Given the description of an element on the screen output the (x, y) to click on. 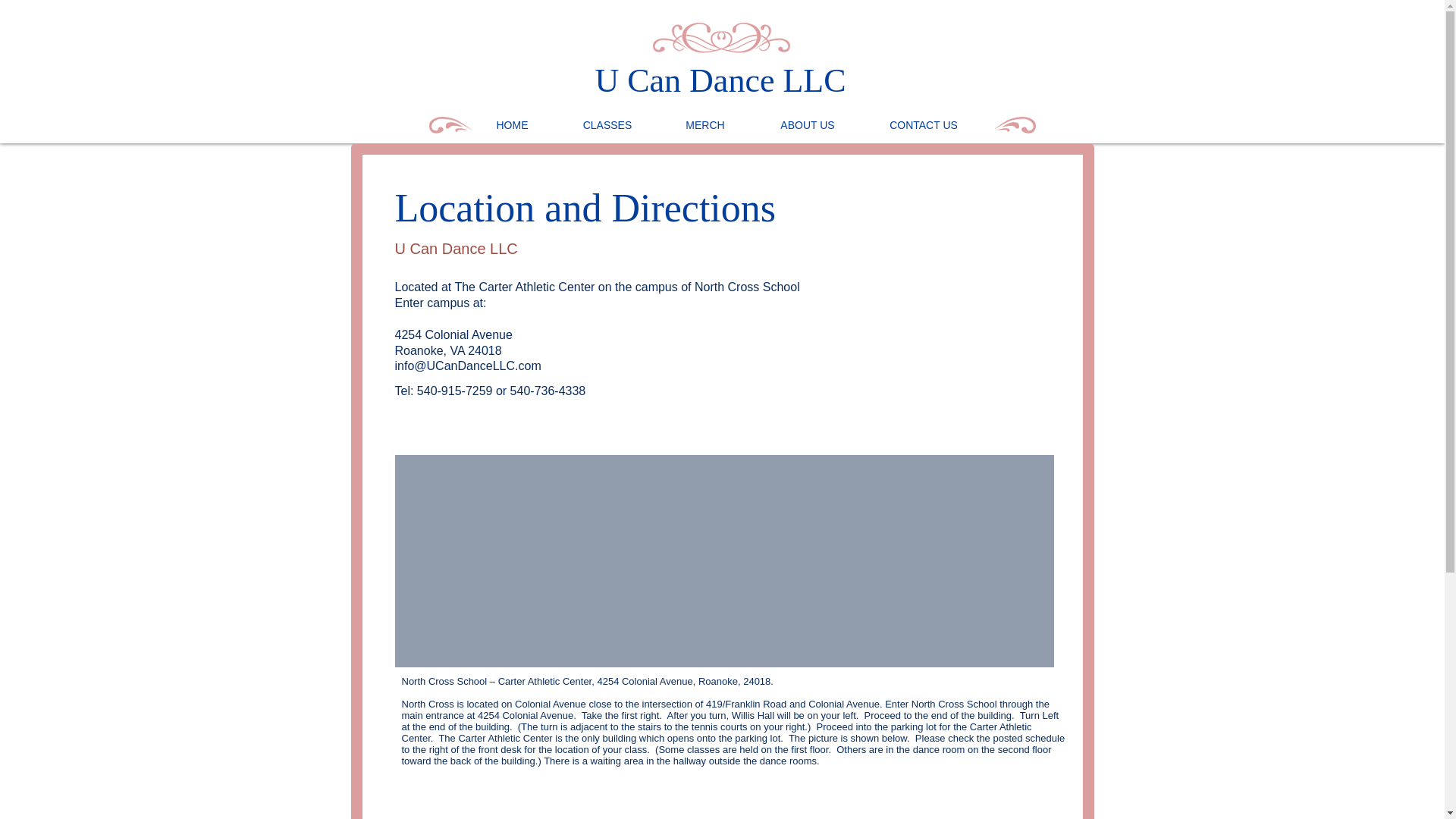
MERCH (705, 124)
CLASSES (607, 124)
HOME (511, 124)
ABOUT US (806, 124)
CONTACT US (924, 124)
